Given the description of an element on the screen output the (x, y) to click on. 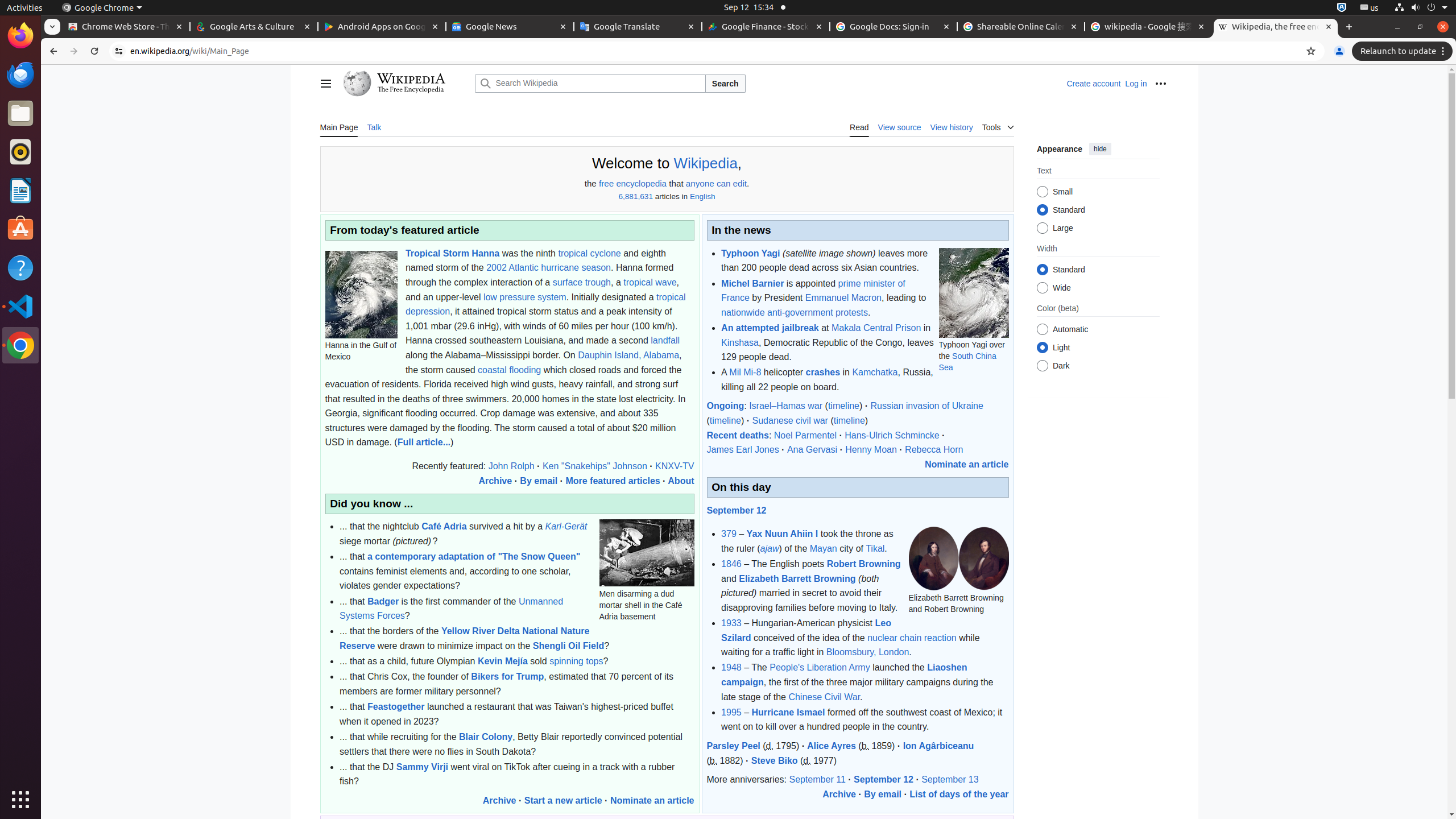
1846 Element type: link (731, 564)
Typhoon Yagi over the South China Sea Element type: link (973, 292)
Feastogether Element type: link (395, 706)
Android Apps on Google Play - Memory usage - 103 MB Element type: page-tab (381, 26)
Russian invasion of Ukraine Element type: link (926, 405)
